Given the description of an element on the screen output the (x, y) to click on. 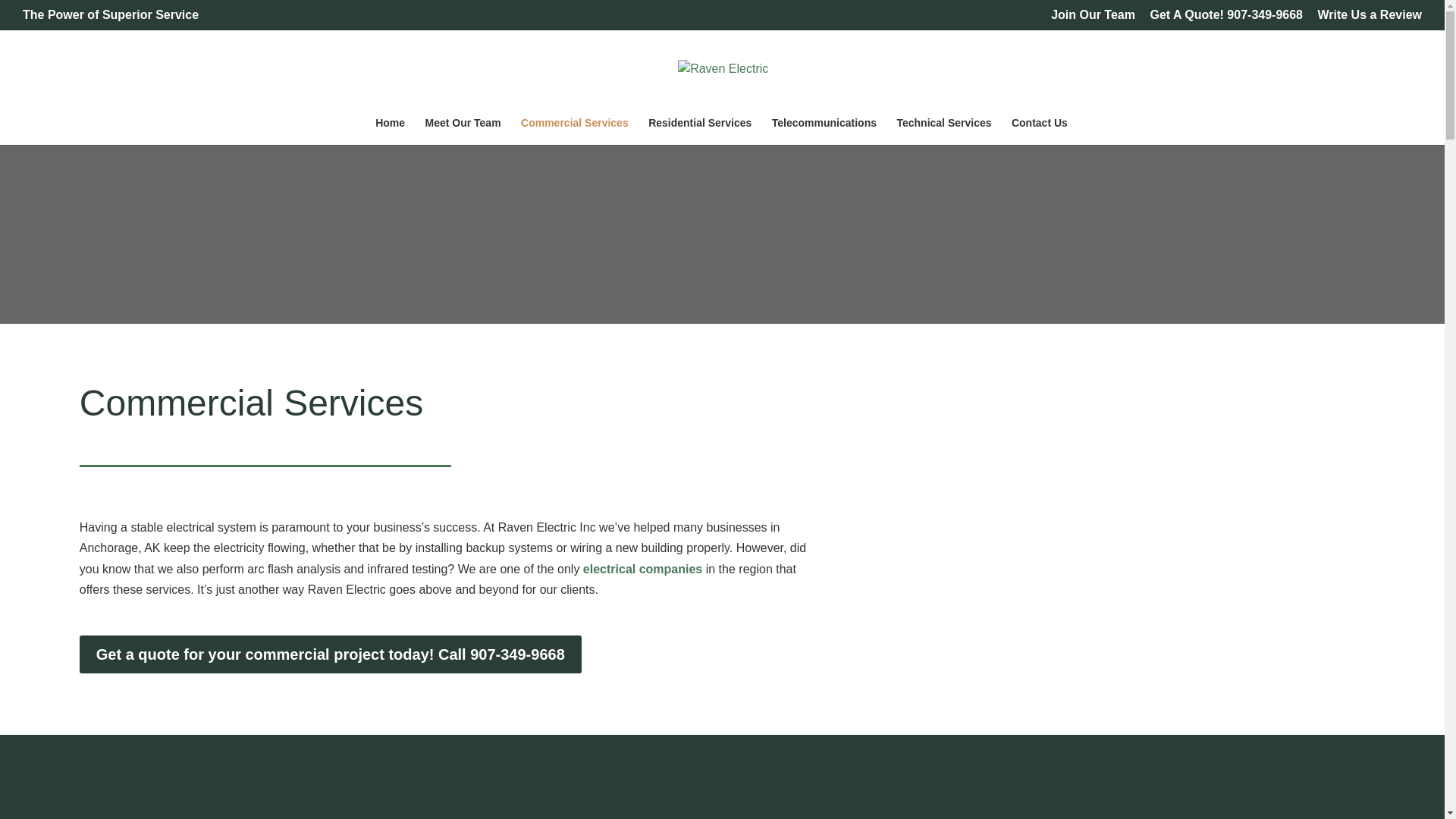
Technical Services (943, 130)
Join Our Team (1093, 19)
Commercial Services (574, 130)
Contact Us (1039, 130)
Home (389, 130)
Get A Quote! 907-349-9668 (1226, 19)
Meet Our Team (462, 130)
Write Us a Review (1369, 19)
Telecommunications (823, 130)
